Given the description of an element on the screen output the (x, y) to click on. 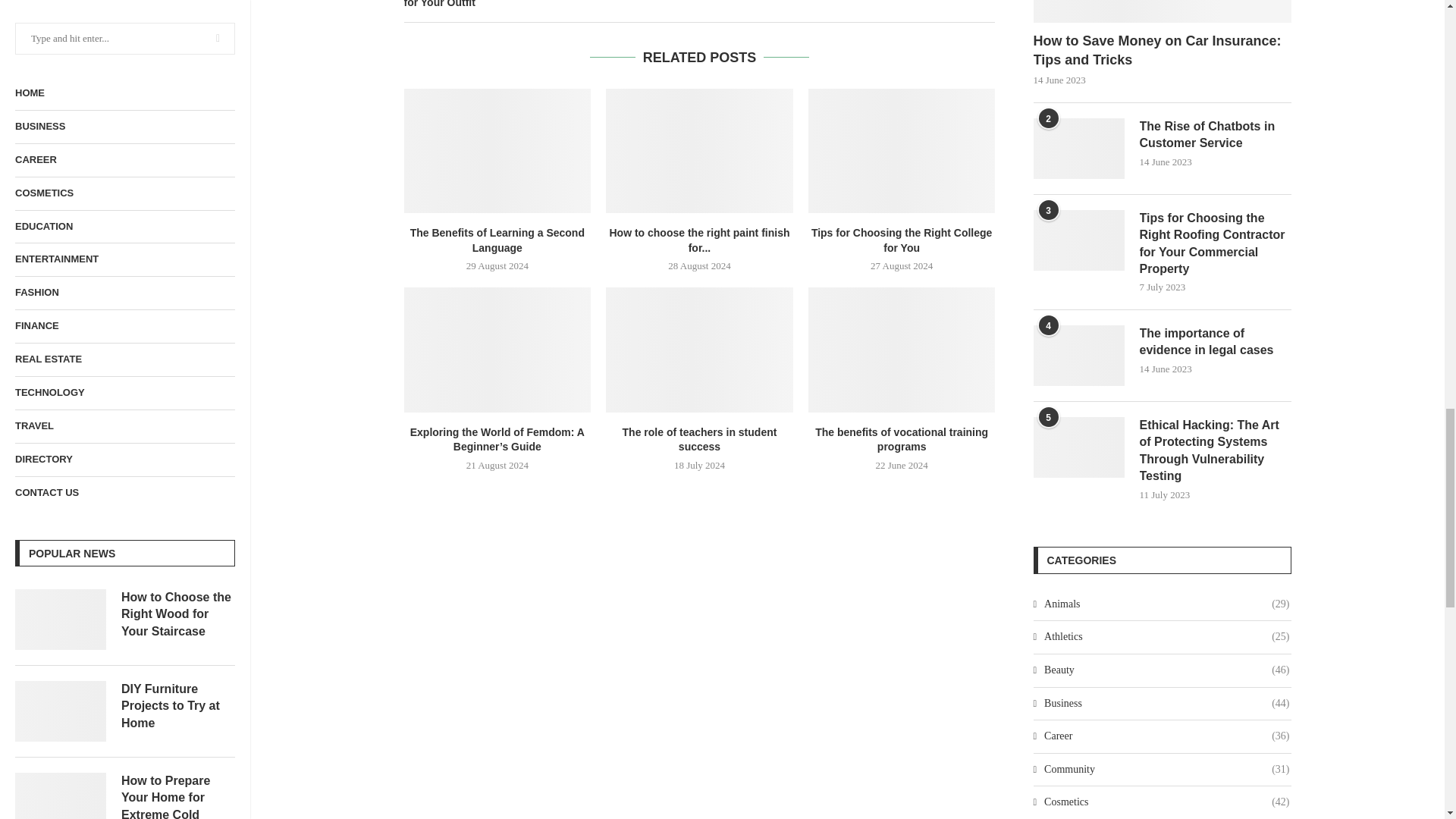
Tips for Choosing the Right College for You (901, 150)
The Benefits of Learning a Second Language (497, 150)
